Given the description of an element on the screen output the (x, y) to click on. 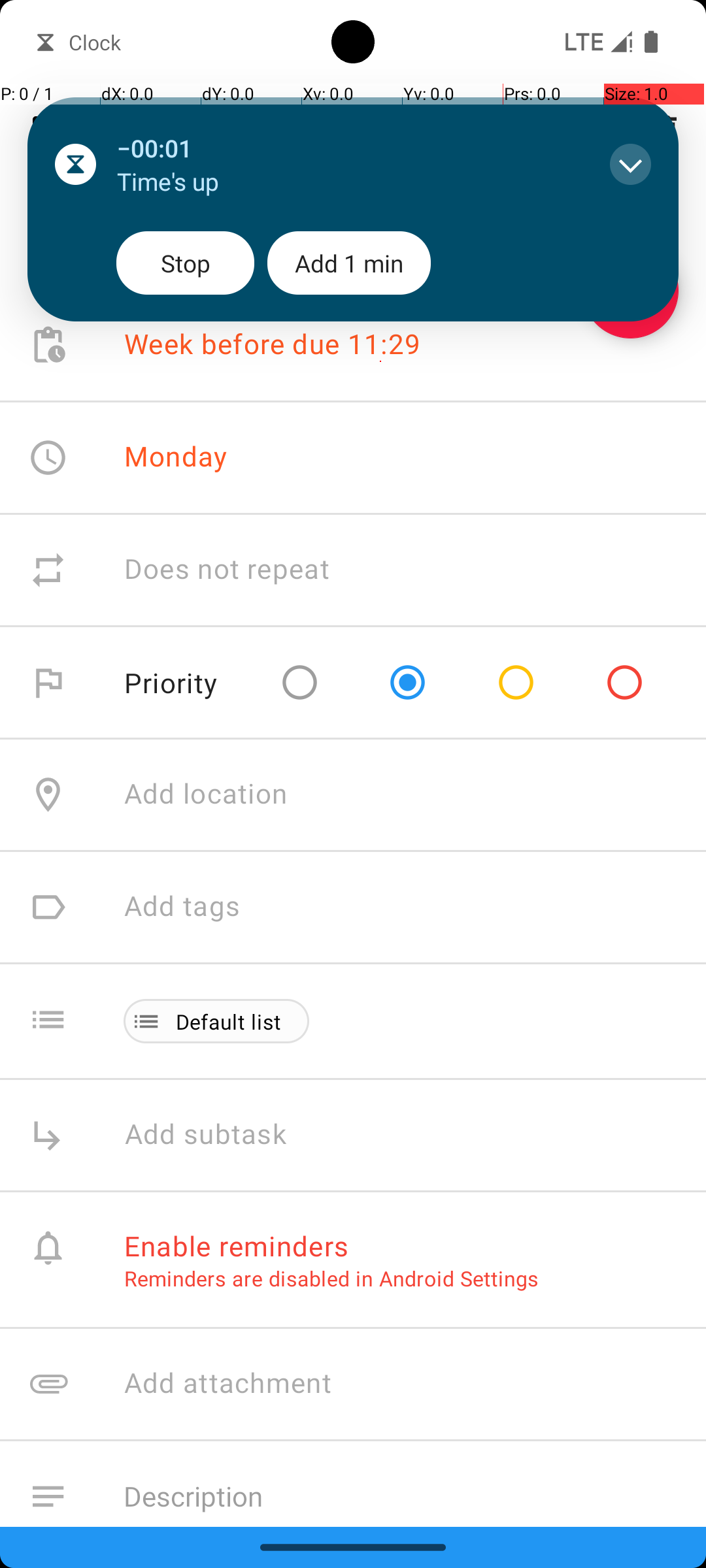
Week before due 11:29 Element type: android.widget.TextView (272, 344)
−00:01 Element type: android.widget.Chronometer (349, 147)
Time's up Element type: android.widget.TextView (349, 180)
Add 1 min Element type: android.widget.Button (348, 262)
